Given the description of an element on the screen output the (x, y) to click on. 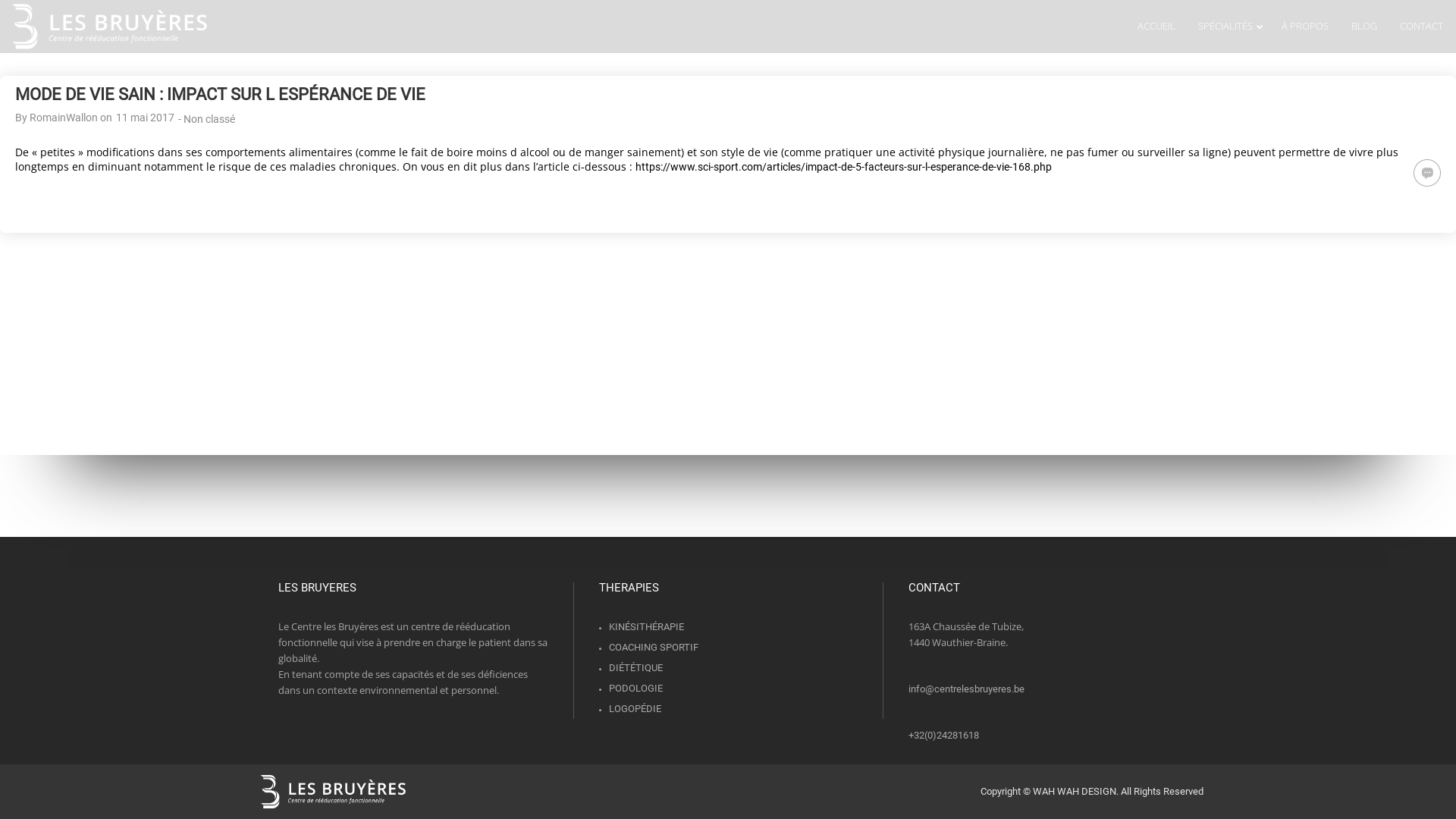
ACCUEIL Element type: text (1156, 26)
PODOLOGIE Element type: text (635, 687)
COACHING SPORTIF Element type: text (653, 646)
info@centrelesbruyeres.be Element type: text (966, 688)
RomainWallon Element type: text (63, 117)
BLOG Element type: text (1363, 26)
CONTACT Element type: text (1421, 26)
+32(0)24281618 Element type: text (943, 734)
11 mai 2017 Element type: text (145, 117)
